Given the description of an element on the screen output the (x, y) to click on. 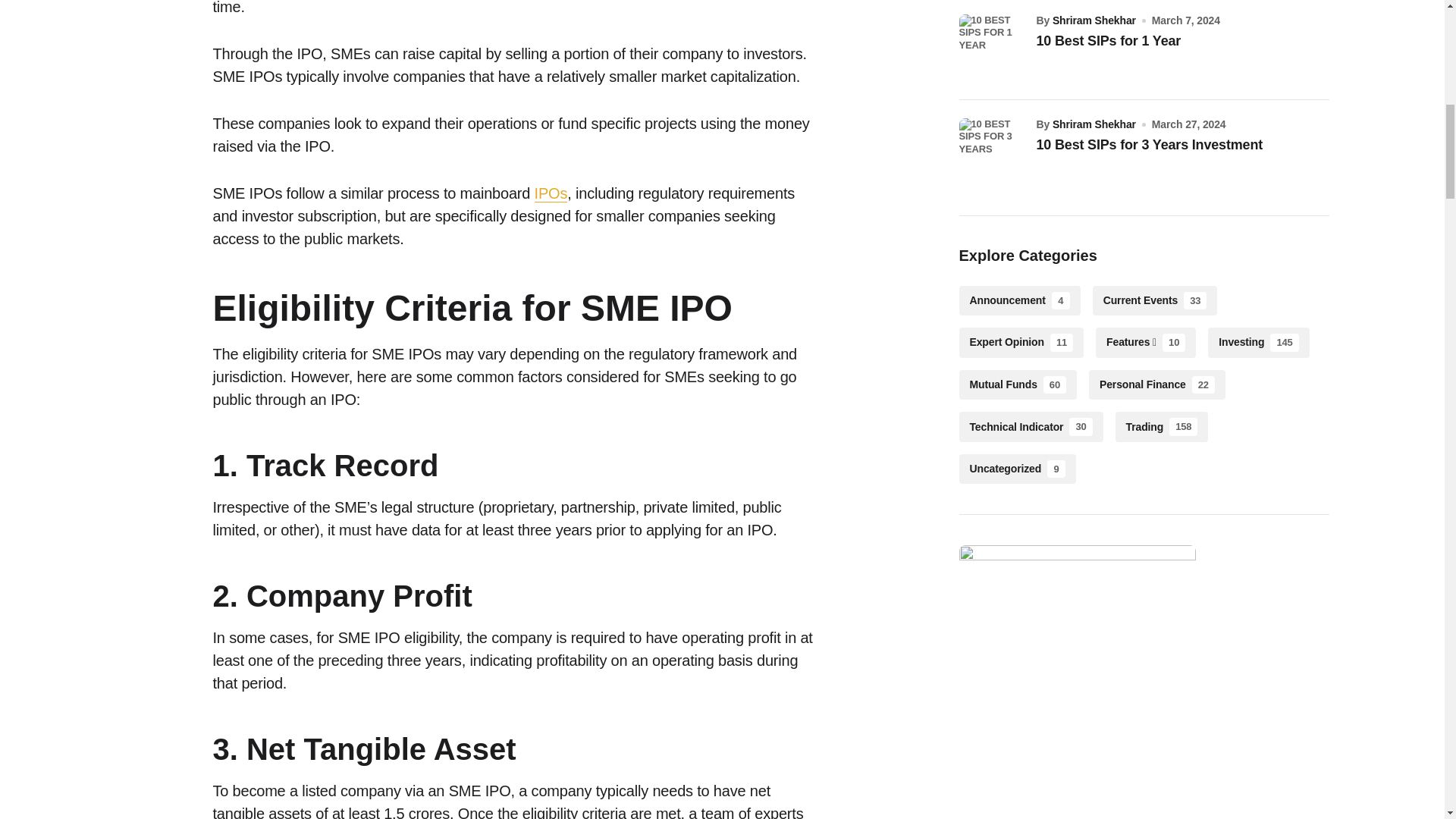
IPOs (550, 193)
